Given the description of an element on the screen output the (x, y) to click on. 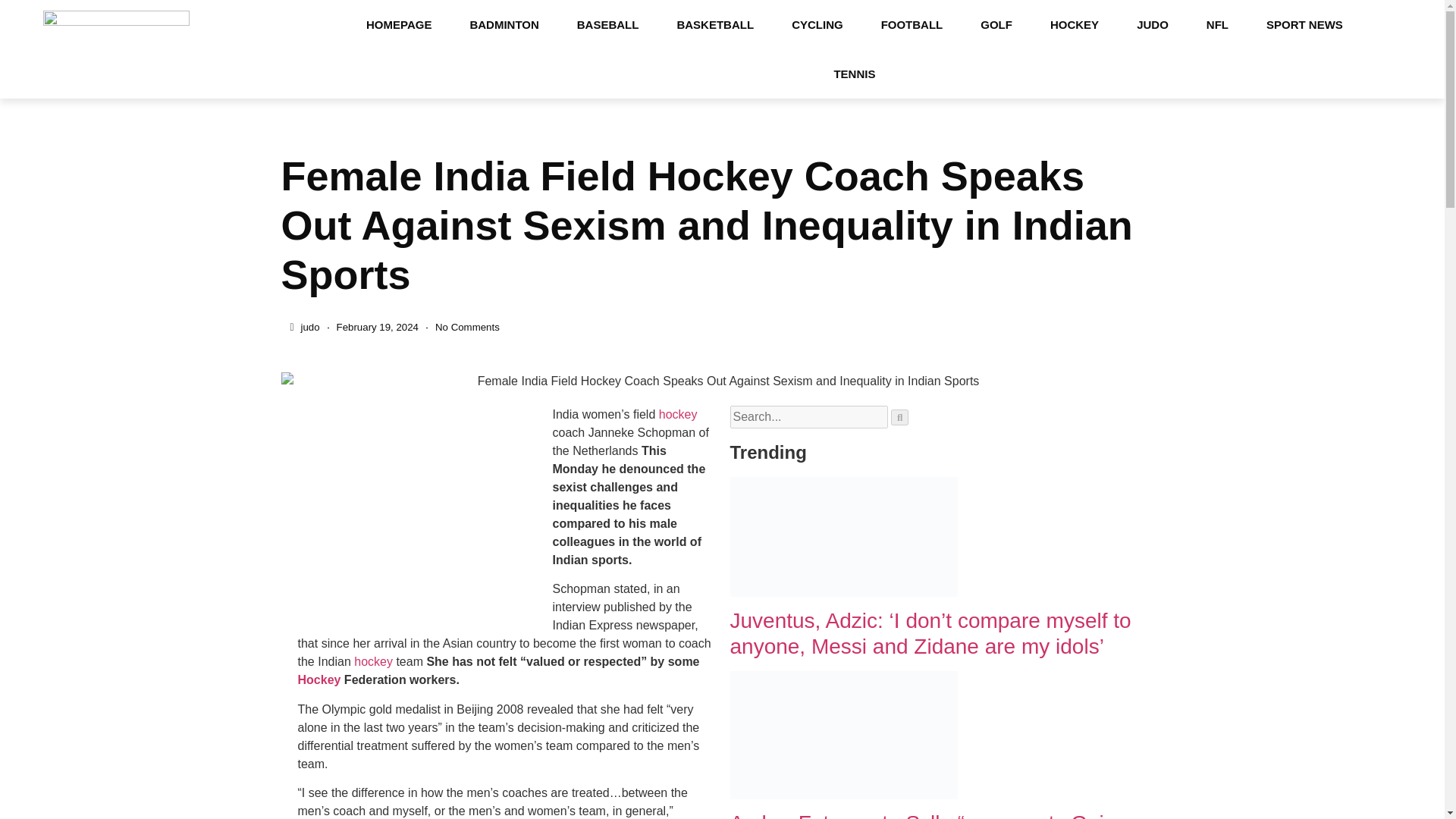
BADMINTON (503, 24)
JUDO (1153, 24)
HOCKEY (1074, 24)
TENNIS (853, 73)
BASEBALL (607, 24)
HOMEPAGE (398, 24)
GOLF (995, 24)
FOOTBALL (911, 24)
NFL (1217, 24)
CYCLING (817, 24)
BASKETBALL (715, 24)
SPORT NEWS (1304, 24)
